Given the description of an element on the screen output the (x, y) to click on. 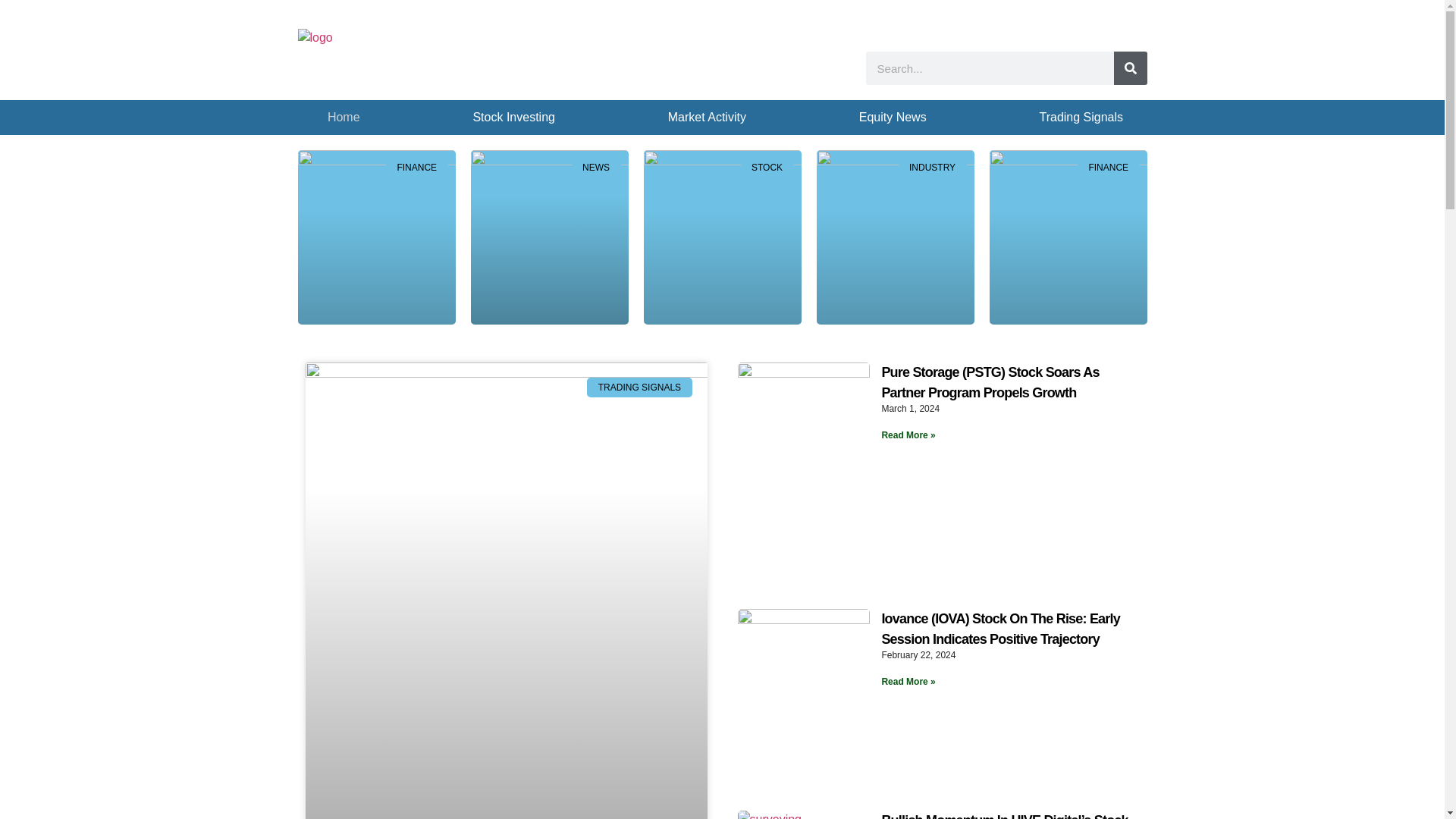
Home (343, 117)
Market Activity (706, 117)
Equity News (892, 117)
Trading Signals (1080, 117)
Stock Investing (513, 117)
